Given the description of an element on the screen output the (x, y) to click on. 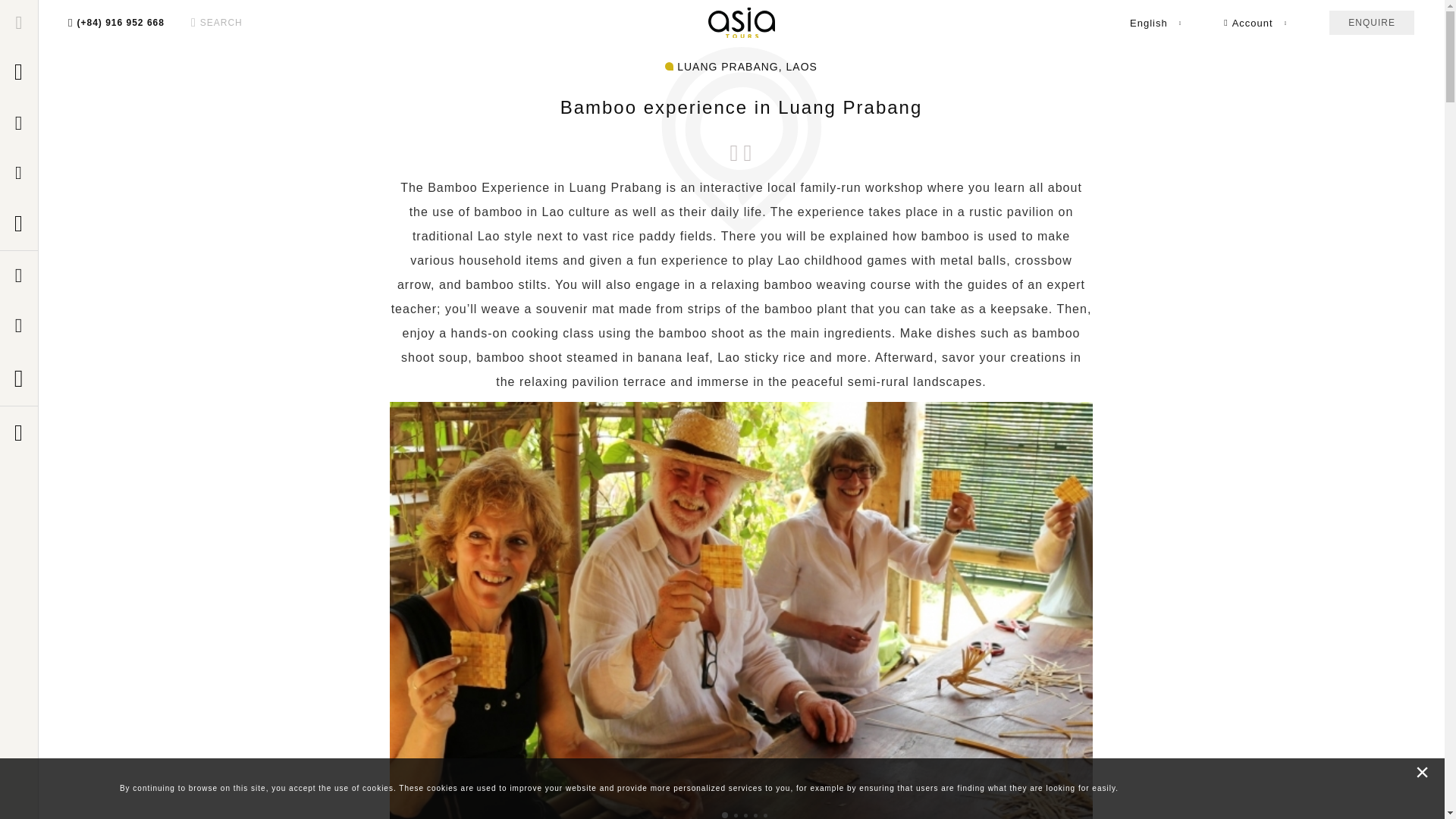
SEARCH (216, 22)
Asia Tours (740, 22)
